Given the description of an element on the screen output the (x, y) to click on. 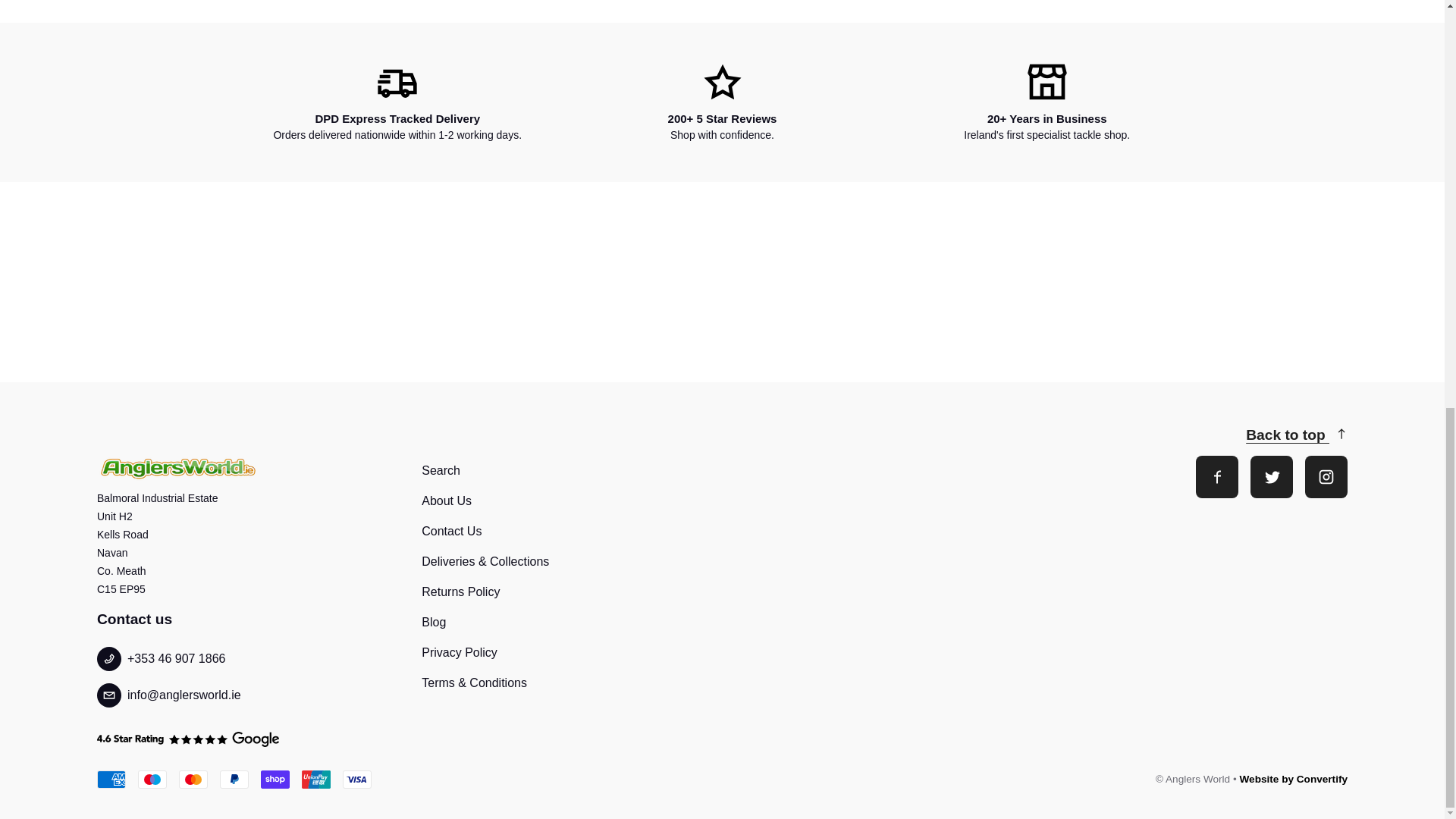
Twitter (1271, 476)
Instagram (1326, 476)
